Given the description of an element on the screen output the (x, y) to click on. 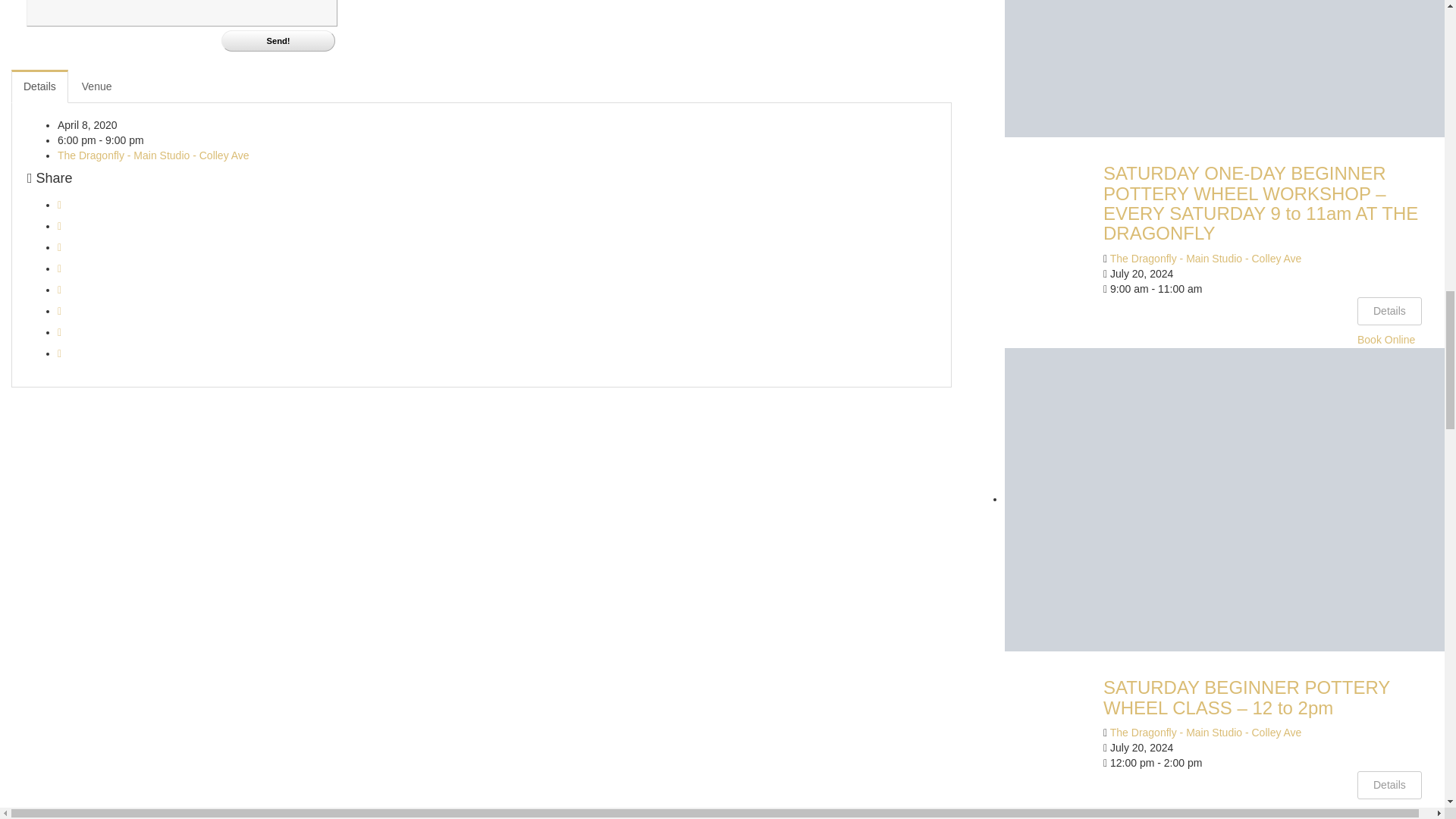
Details (39, 86)
Send! (277, 40)
Venue (96, 86)
Send! (277, 40)
The Dragonfly - Main Studio - Colley Ave (153, 155)
